Given the description of an element on the screen output the (x, y) to click on. 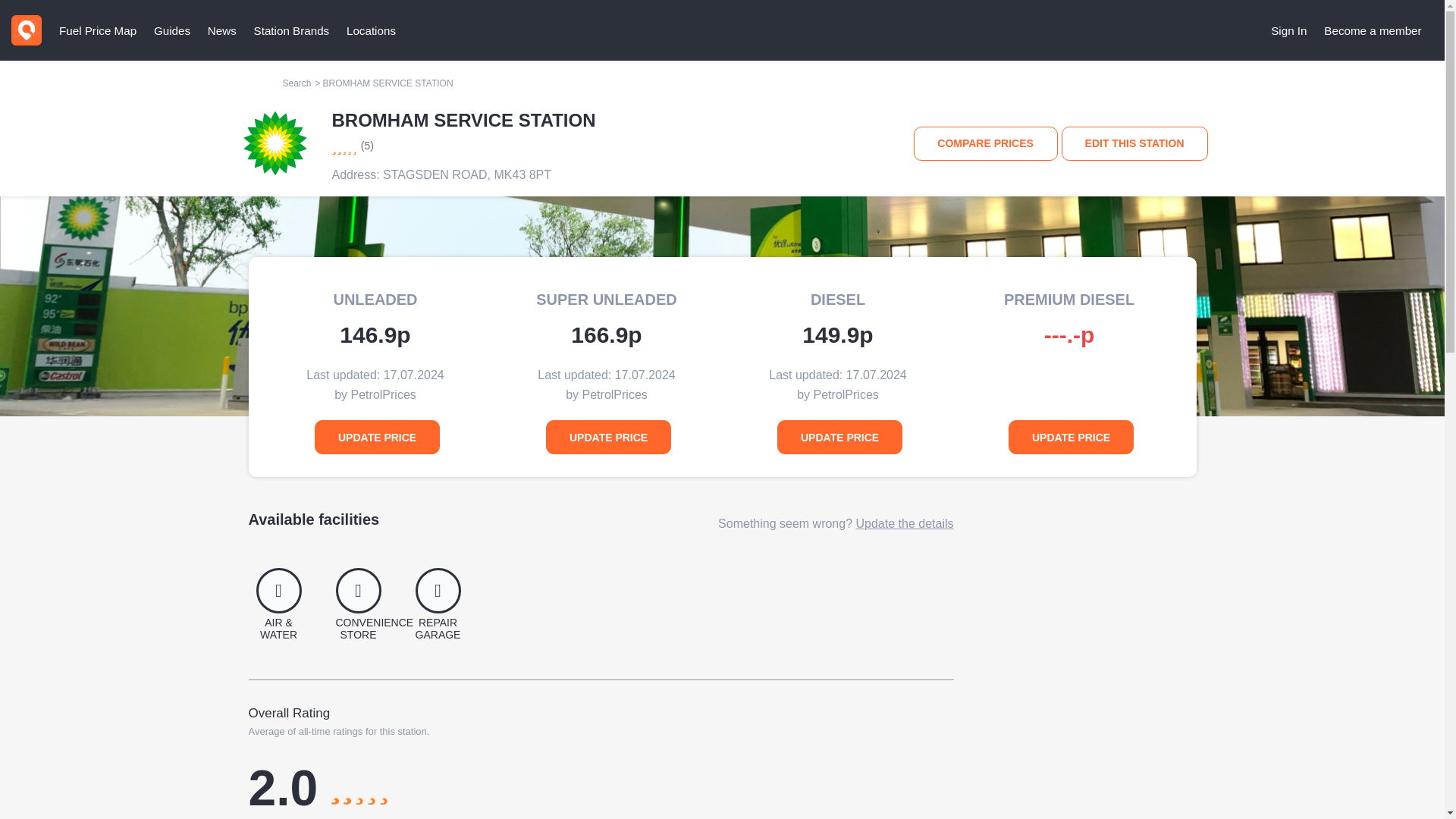
Station Brands (290, 30)
UPDATE PRICE (608, 437)
UPDATE PRICE (839, 437)
Update the details (904, 522)
Guides (171, 30)
Search (296, 82)
EDIT THIS STATION (1134, 143)
News (221, 30)
Fuel Price Map (96, 30)
UPDATE PRICE (1071, 437)
COMPARE PRICES (986, 143)
Sign In (1289, 30)
Locations (370, 30)
UPDATE PRICE (376, 437)
Become a member (1373, 30)
